Given the description of an element on the screen output the (x, y) to click on. 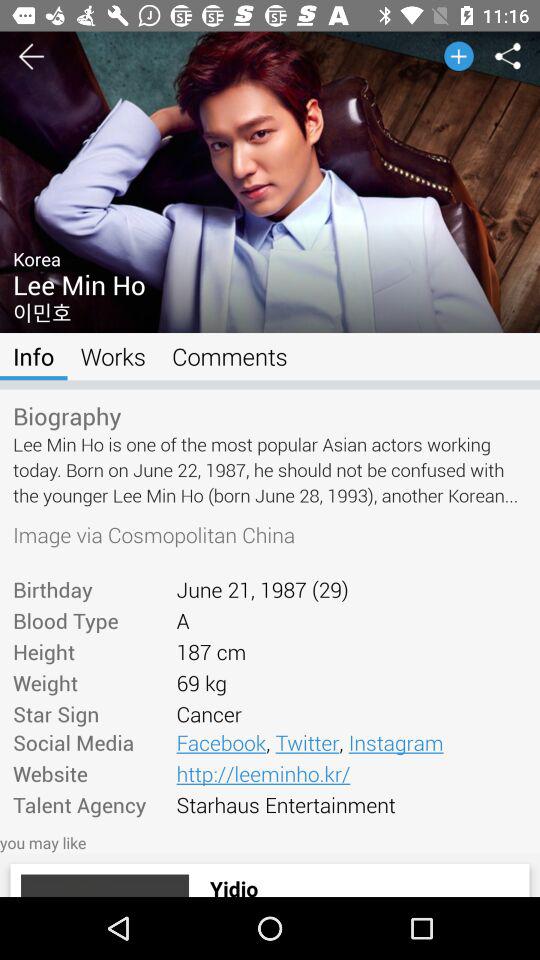
choose icon next to yidio icon (104, 885)
